Given the description of an element on the screen output the (x, y) to click on. 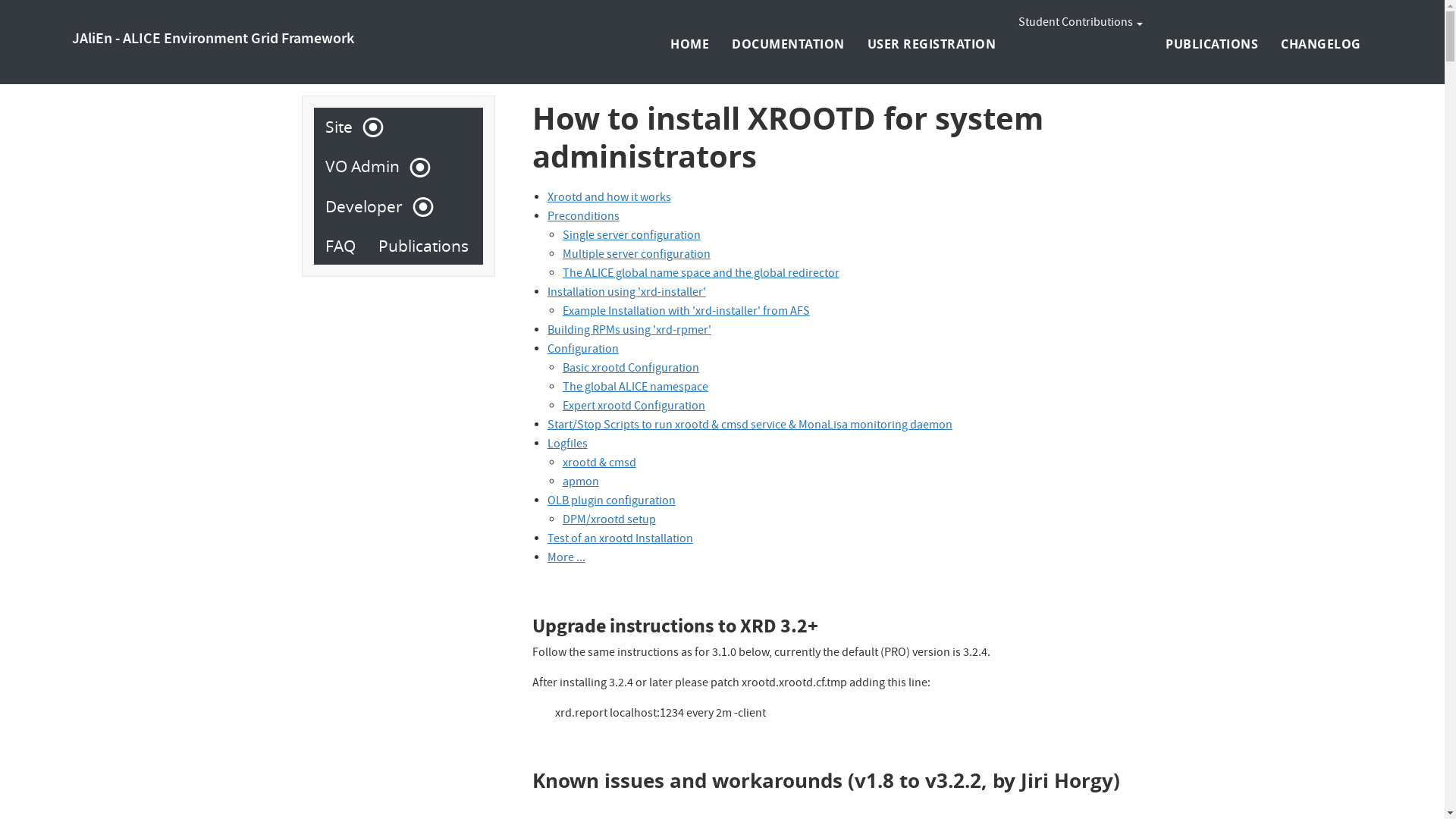
Single server configuration Element type: text (631, 236)
Preconditions Element type: text (583, 217)
Configuration Element type: text (582, 350)
HOME Element type: text (689, 43)
Building RPMs using 'xrd-rpmer' Element type: text (629, 331)
Installation using 'xrd-installer' Element type: text (626, 293)
Example Installation with 'xrd-installer' from AFS Element type: text (685, 312)
Sign in Element type: text (1301, 14)
DPM/xrootd setup Element type: text (608, 520)
USER REGISTRATION Element type: text (931, 43)
The global ALICE namespace Element type: text (635, 388)
OLB plugin configuration Element type: text (611, 501)
Site Element type: text (346, 127)
Logfiles Element type: text (567, 445)
Developer Element type: text (371, 206)
Publications Element type: text (423, 245)
Xrootd and how it works Element type: text (609, 198)
apmon Element type: text (580, 482)
PUBLICATIONS Element type: text (1211, 43)
Multiple server configuration Element type: text (636, 255)
FAQ Element type: text (340, 245)
JAliEn - ALICE Environment Grid Framework Element type: text (213, 39)
Expert xrootd Configuration Element type: text (633, 407)
The ALICE global name space and the global redirector Element type: text (700, 274)
DOCUMENTATION Element type: text (787, 43)
Skip to main content Element type: text (0, 0)
Directory Element type: text (1351, 14)
Test of an xrootd Installation Element type: text (620, 539)
More ... Element type: text (566, 558)
Basic xrootd Configuration Element type: text (630, 369)
CHANGELOG Element type: text (1320, 43)
CERN Accelerating science Element type: text (142, 14)
VO Admin Element type: text (370, 166)
xrootd & cmsd Element type: text (599, 464)
